Given the description of an element on the screen output the (x, y) to click on. 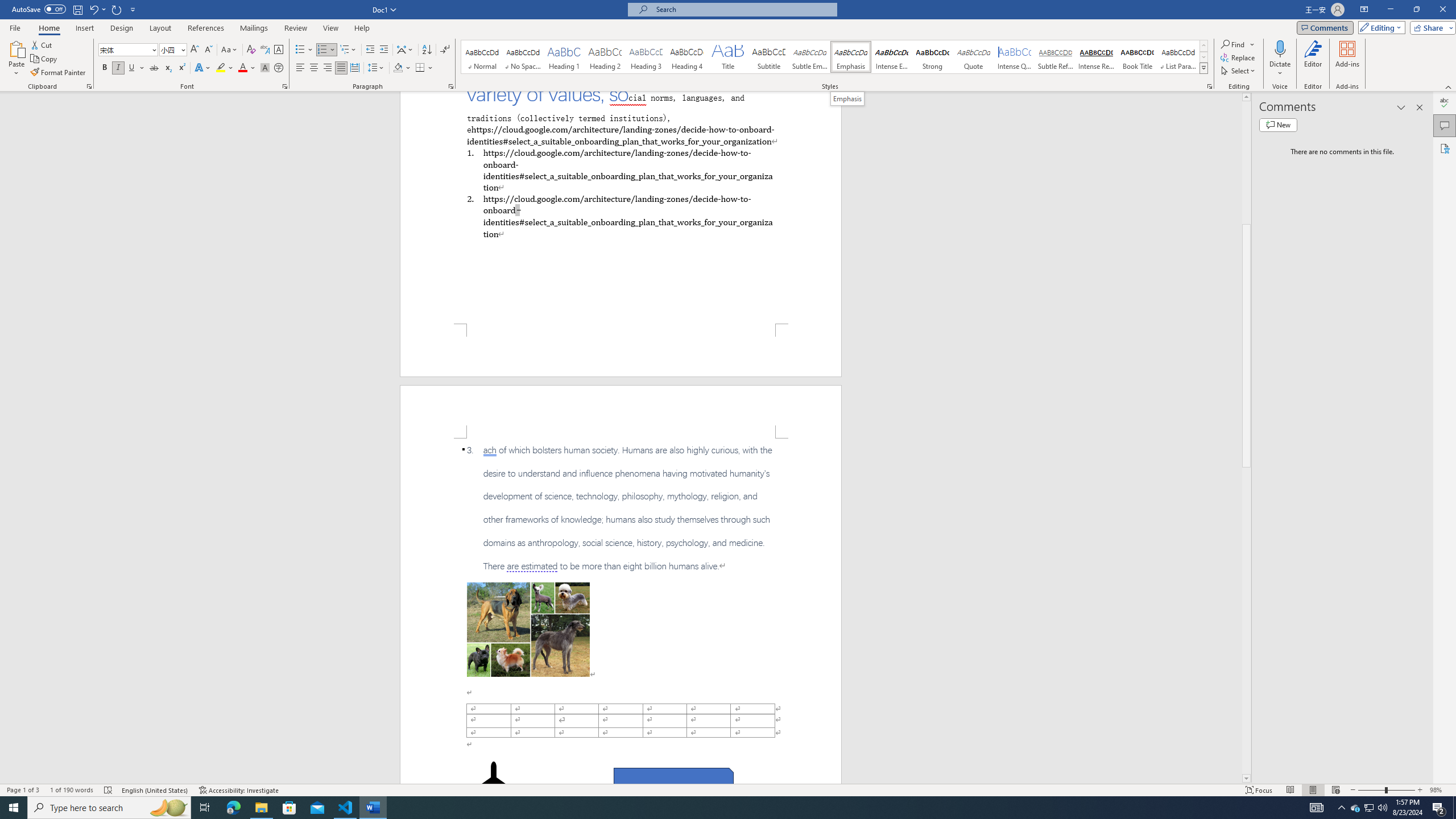
Airplane with solid fill (493, 783)
Spelling and Grammar Check Errors (108, 790)
Book Title (1136, 56)
